Given the description of an element on the screen output the (x, y) to click on. 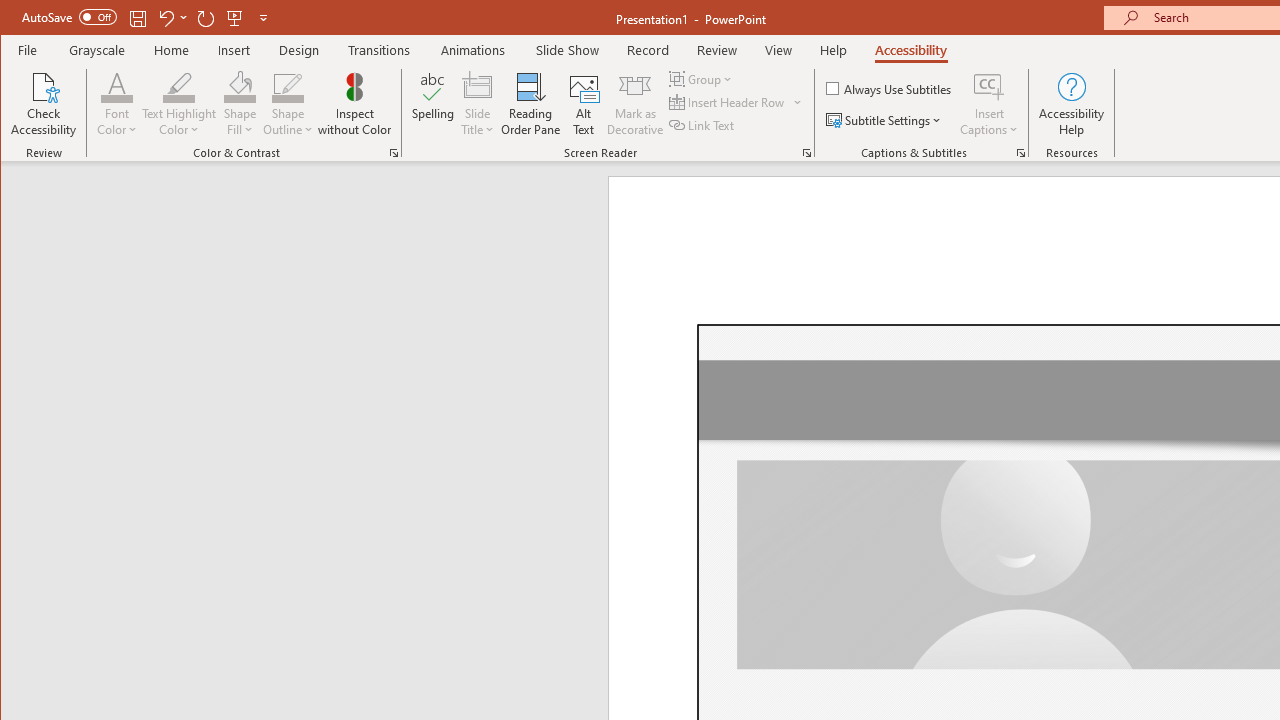
Mark as Decorative (635, 104)
Group (701, 78)
Always Use Subtitles (890, 88)
Captions & Subtitles (1020, 152)
Link Text (703, 124)
Grayscale (97, 50)
